Given the description of an element on the screen output the (x, y) to click on. 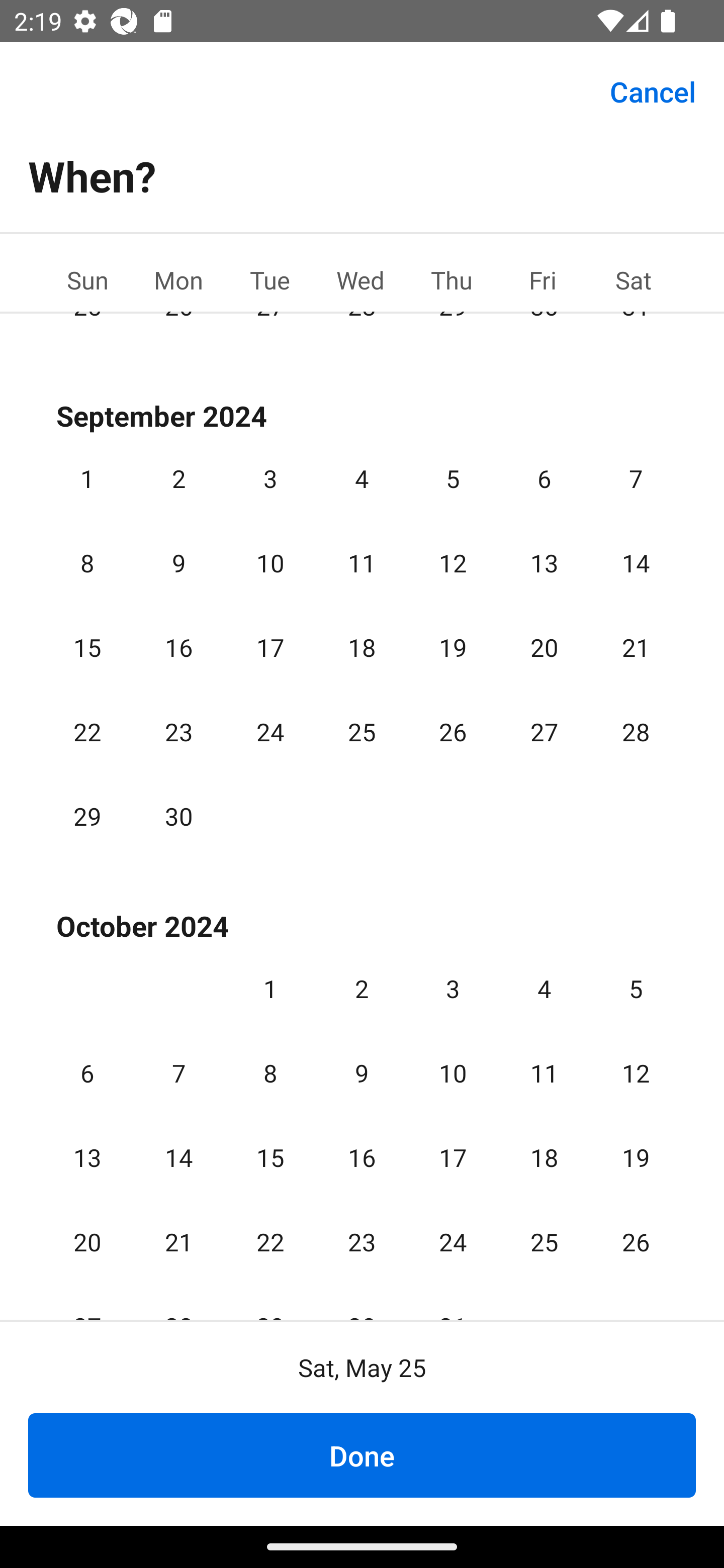
Cancel (652, 90)
Done (361, 1454)
